Given the description of an element on the screen output the (x, y) to click on. 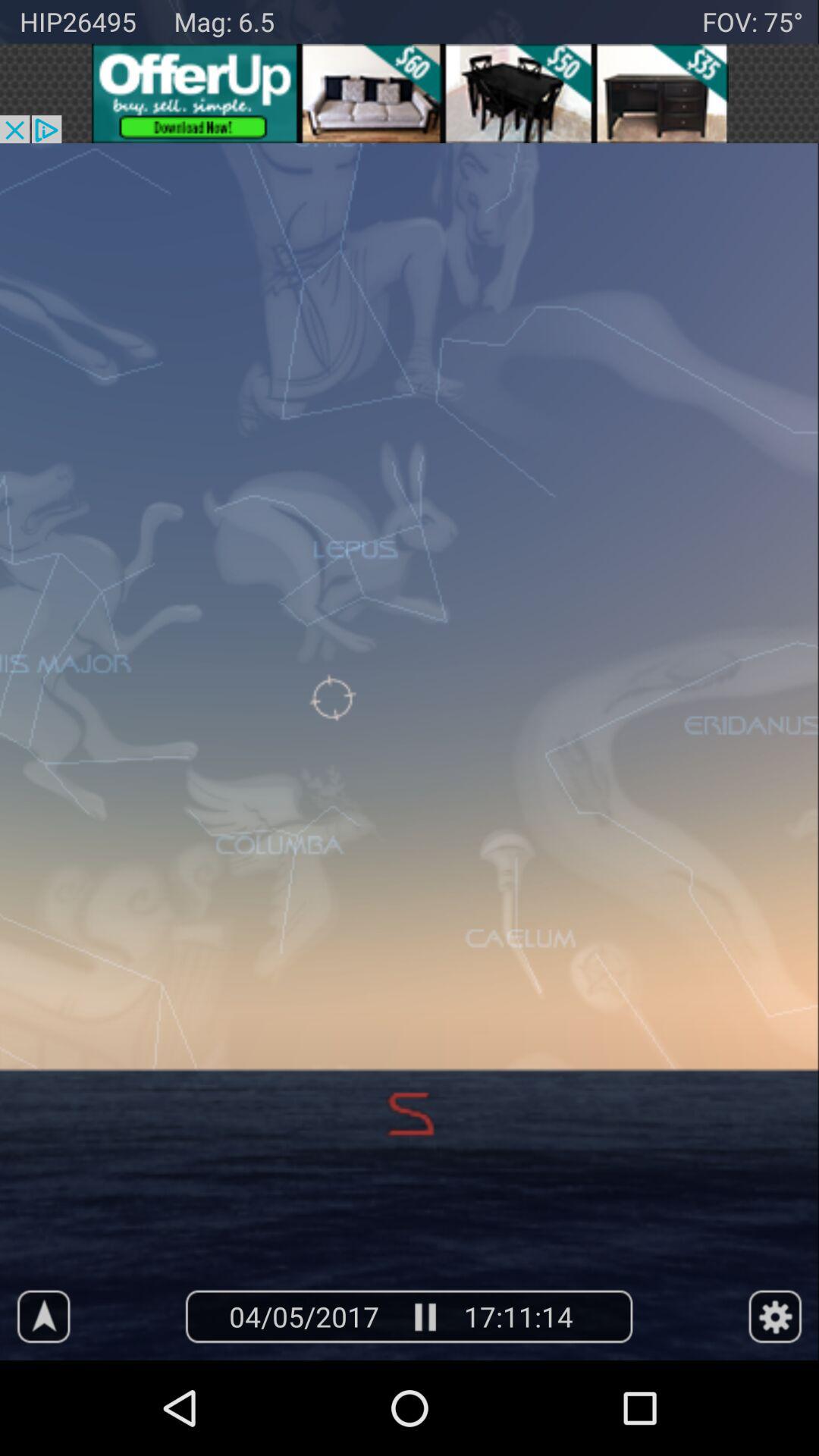
paly an (423, 1316)
